Given the description of an element on the screen output the (x, y) to click on. 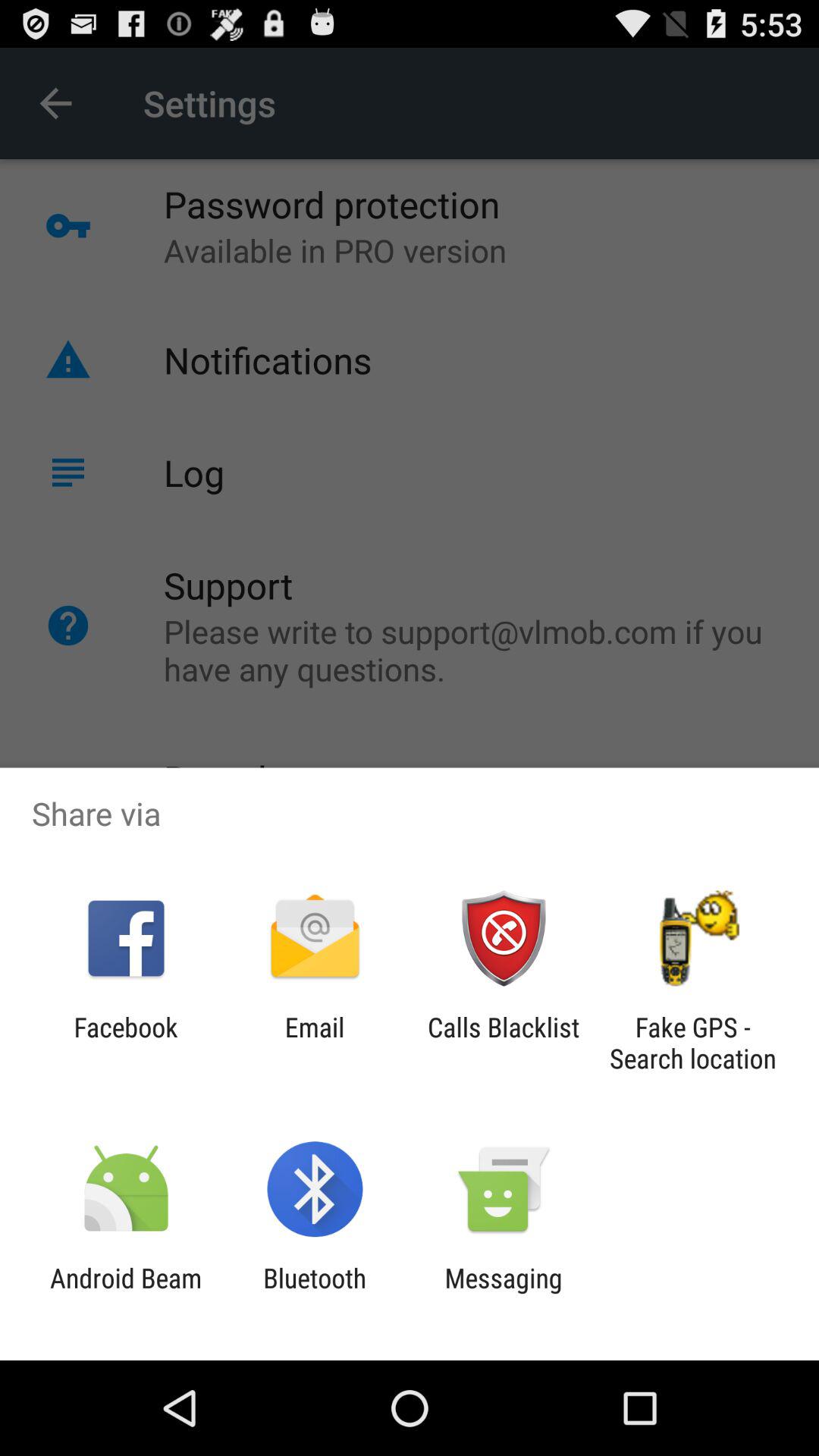
swipe to facebook (125, 1042)
